Given the description of an element on the screen output the (x, y) to click on. 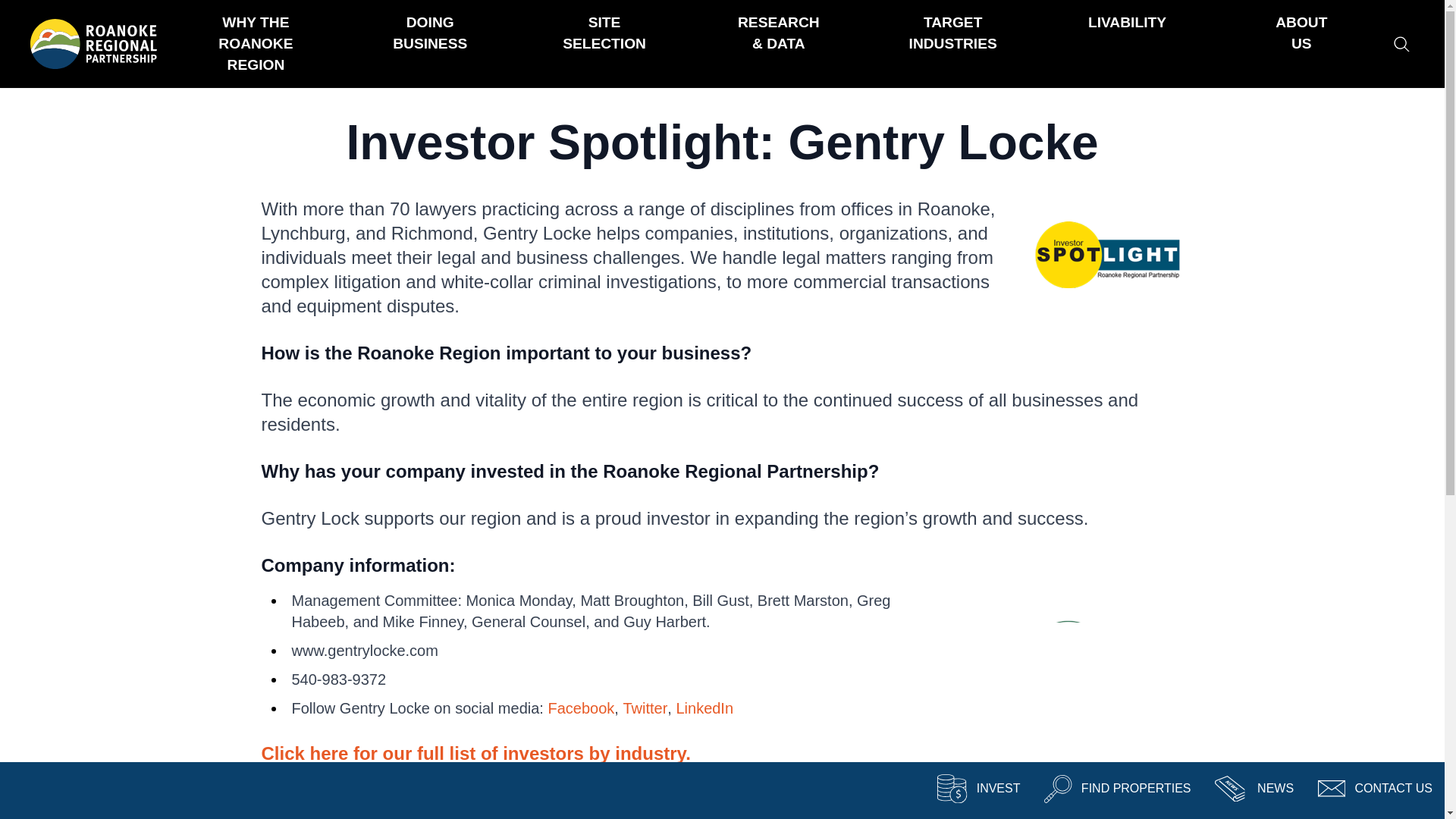
DOING BUSINESS (430, 33)
SITE SELECTION (604, 33)
WHY THE ROANOKE REGION (255, 44)
